Given the description of an element on the screen output the (x, y) to click on. 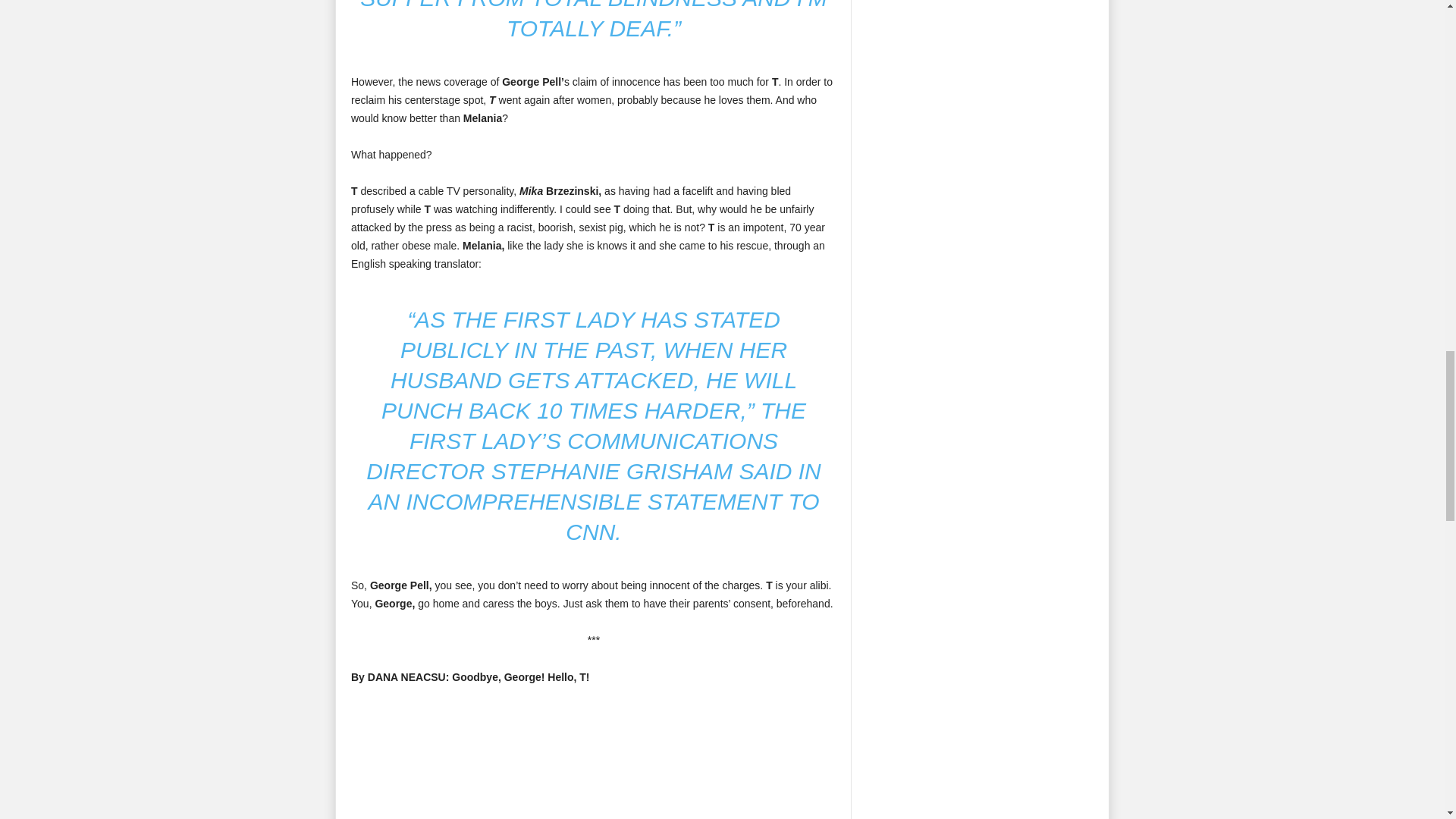
The Beatles - Hello, Goodbye (592, 761)
